Given the description of an element on the screen output the (x, y) to click on. 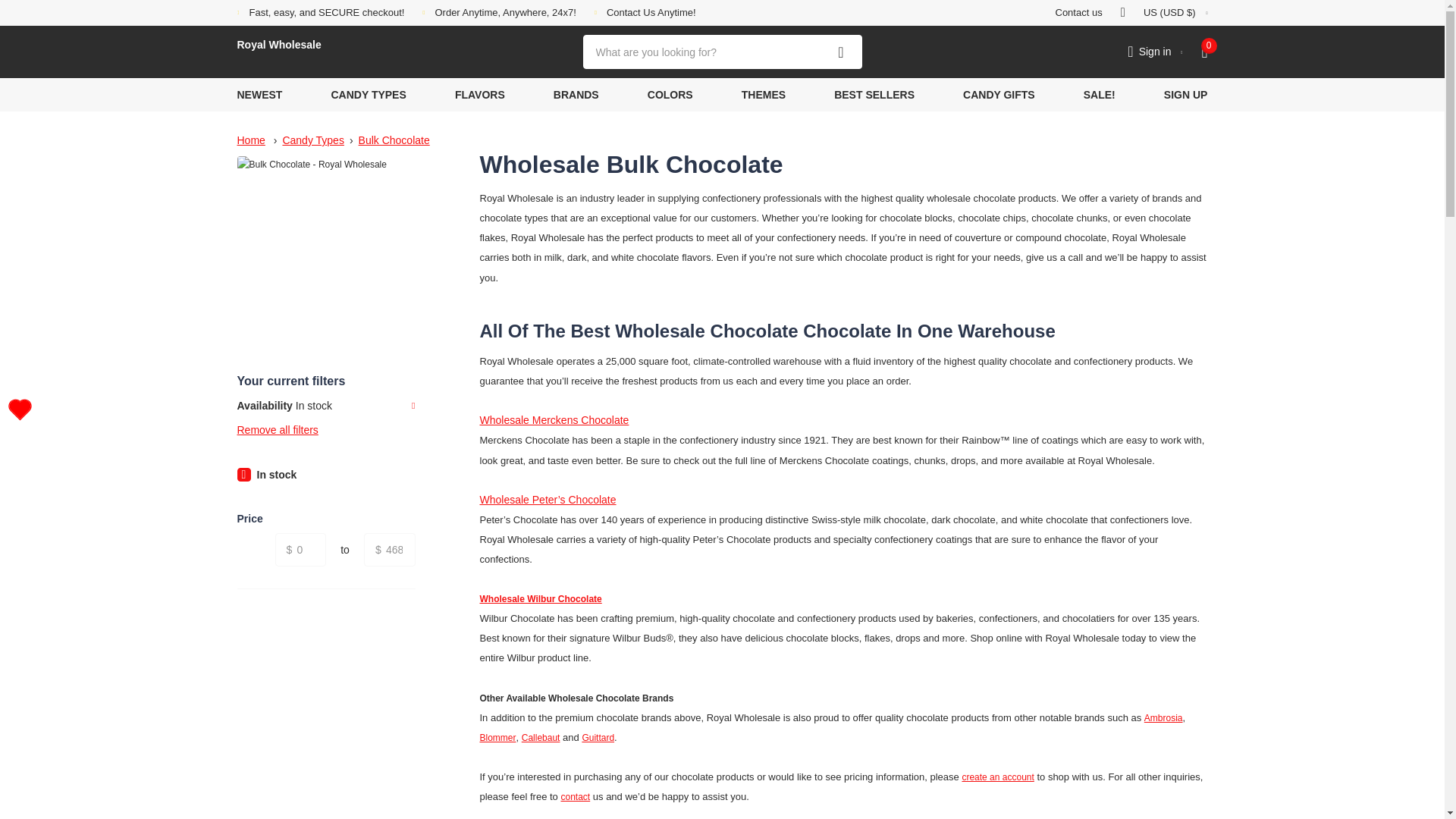
Ambrosia Chocolate Wholesale (1163, 717)
Blommer Chocolate Wholesale (497, 737)
4683 (389, 550)
COLORS (670, 94)
Wholesale Wilbur Chocolate (540, 598)
Contact Royal Wholesale (574, 796)
Guittard Chocolate Wholesale (597, 737)
Wholesale Merckens Chocolate (553, 419)
CANDY GIFTS (998, 94)
THEMES (763, 94)
